Given the description of an element on the screen output the (x, y) to click on. 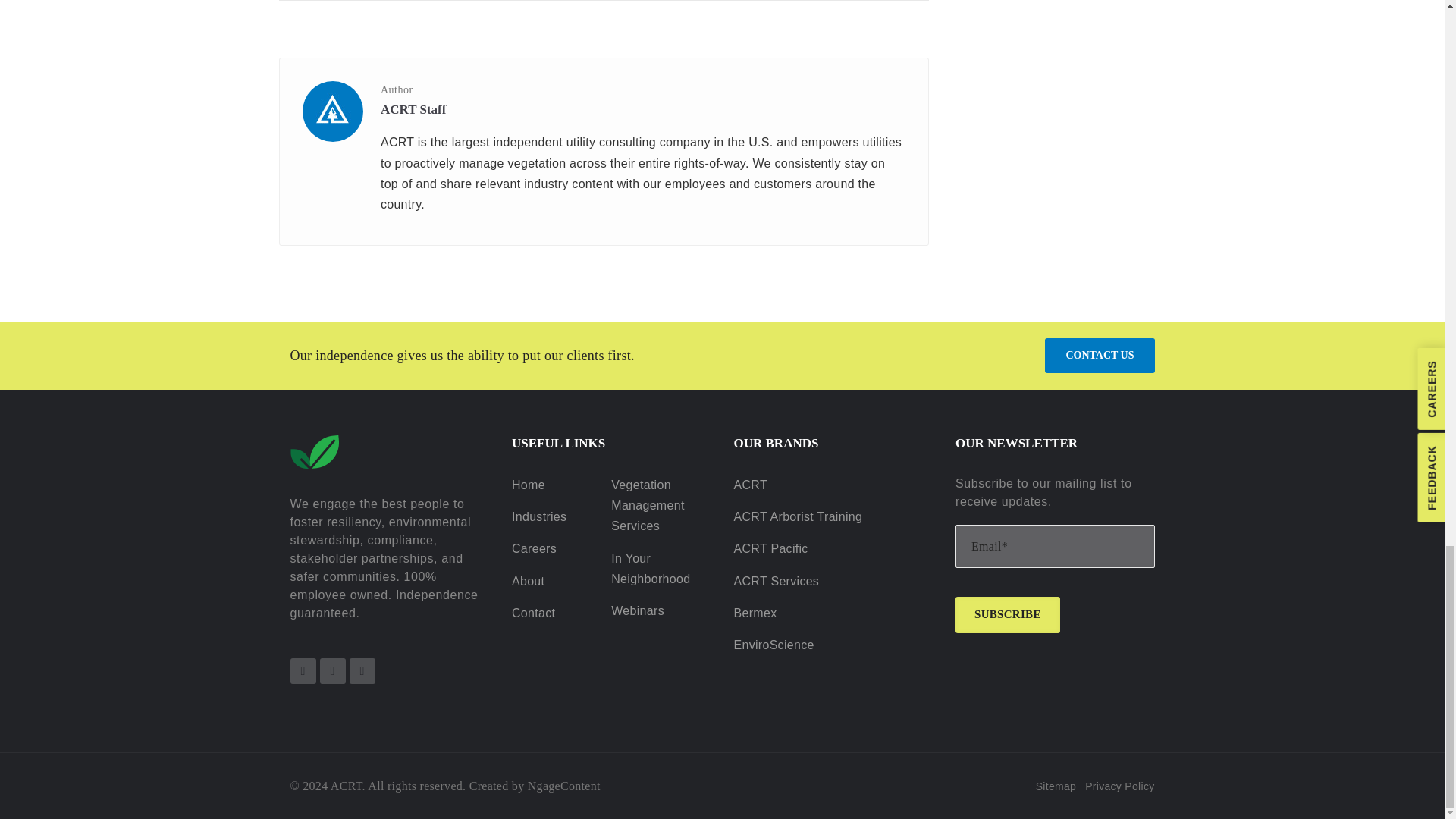
Subscribe (1007, 615)
